Given the description of an element on the screen output the (x, y) to click on. 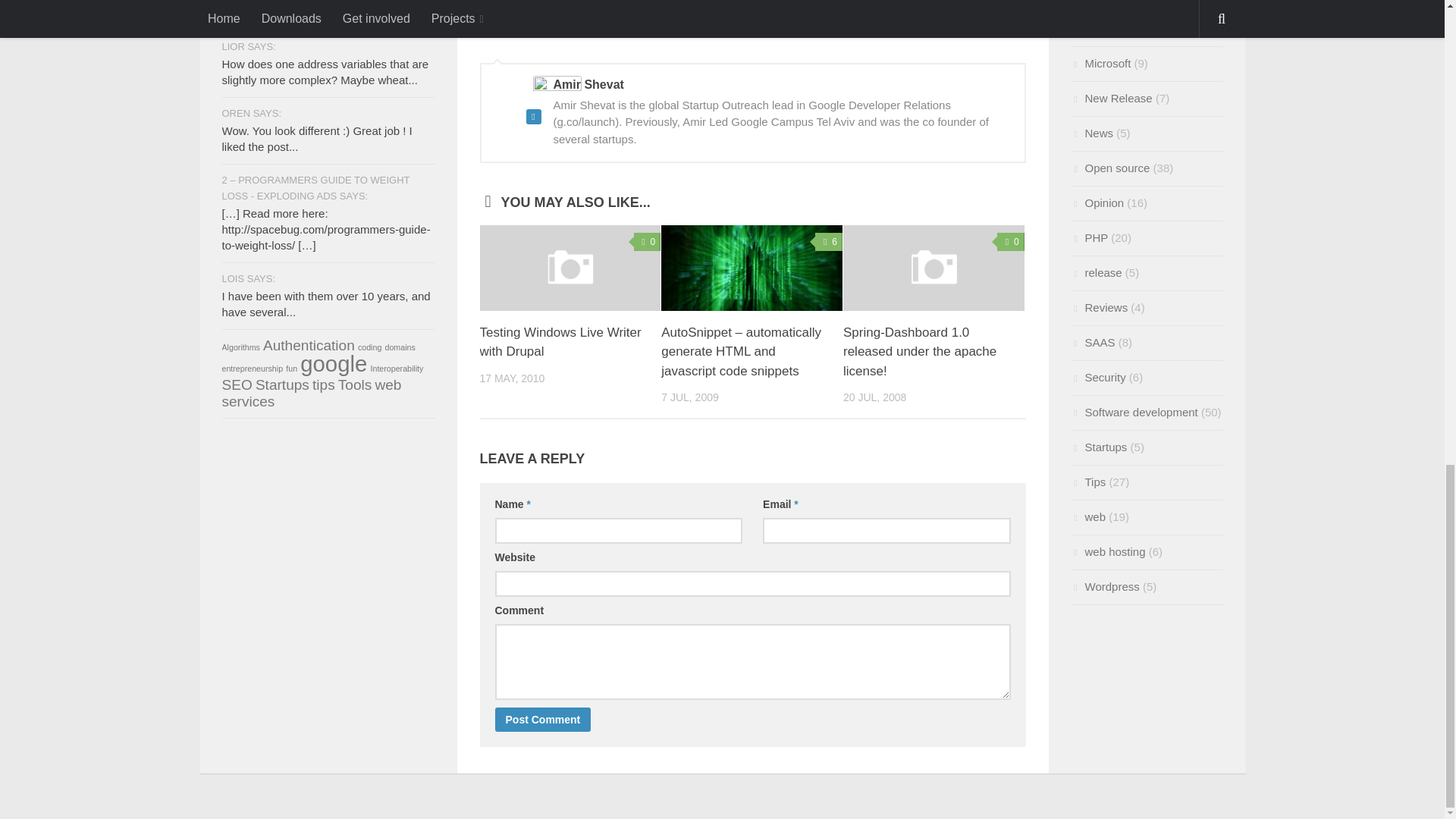
Spring-Dashboard 1.0 released under the apache license! (919, 351)
Linkedin (630, 16)
0 (647, 241)
Testing Windows Live Writer with Drupal (559, 342)
Testing Windows Live Writer with Drupal (559, 342)
Facebook (702, 16)
6 (829, 241)
Twitter (595, 16)
Post Comment (543, 719)
Testing Windows Live Writer with Drupal (570, 267)
Spring-Dashboard 1.0 released under the apache license! (934, 267)
0 (1011, 241)
